Given the description of an element on the screen output the (x, y) to click on. 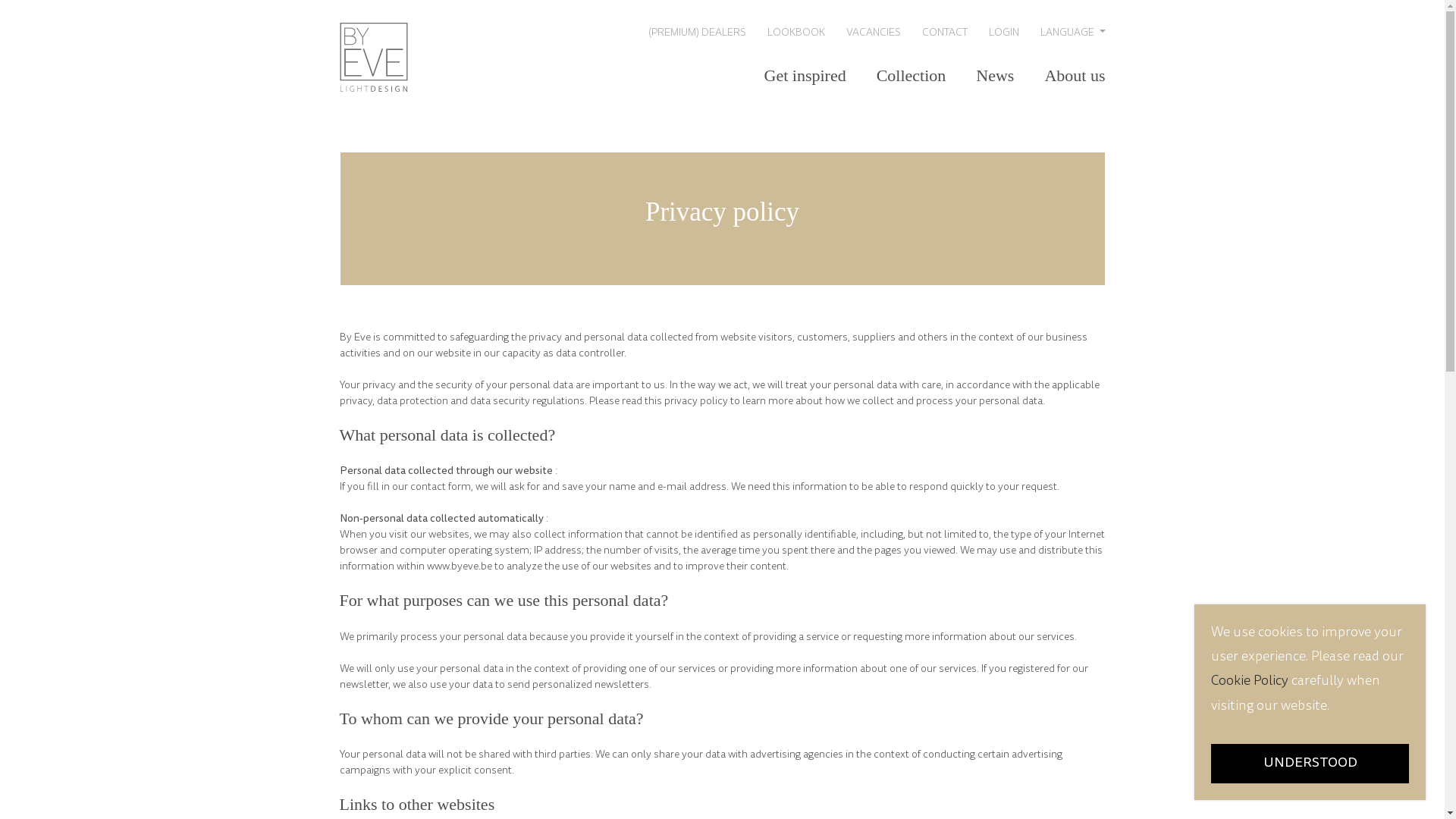
About us Element type: text (1074, 75)
CONTACT Element type: text (944, 31)
LOOKBOOK Element type: text (796, 31)
Get inspired Element type: text (805, 75)
LOGIN Element type: text (1003, 31)
Collection Element type: text (911, 75)
News Element type: text (994, 75)
UNDERSTOOD Element type: text (1309, 763)
Cookie Policy Element type: text (1251, 681)
VACANCIES Element type: text (873, 31)
(PREMIUM) DEALERS Element type: text (697, 31)
LANGUAGE Element type: text (1072, 31)
